Given the description of an element on the screen output the (x, y) to click on. 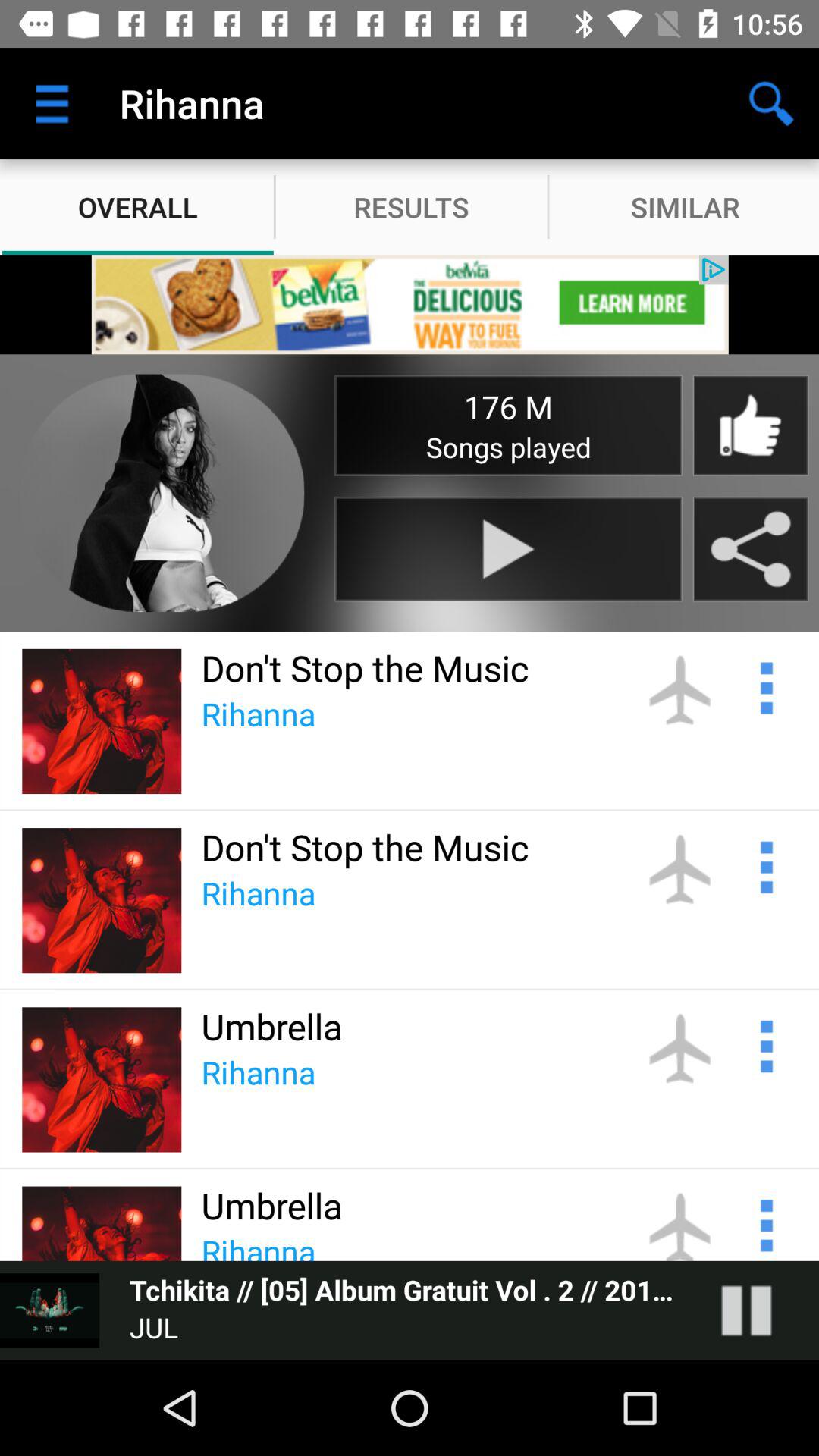
click to like (750, 424)
